Given the description of an element on the screen output the (x, y) to click on. 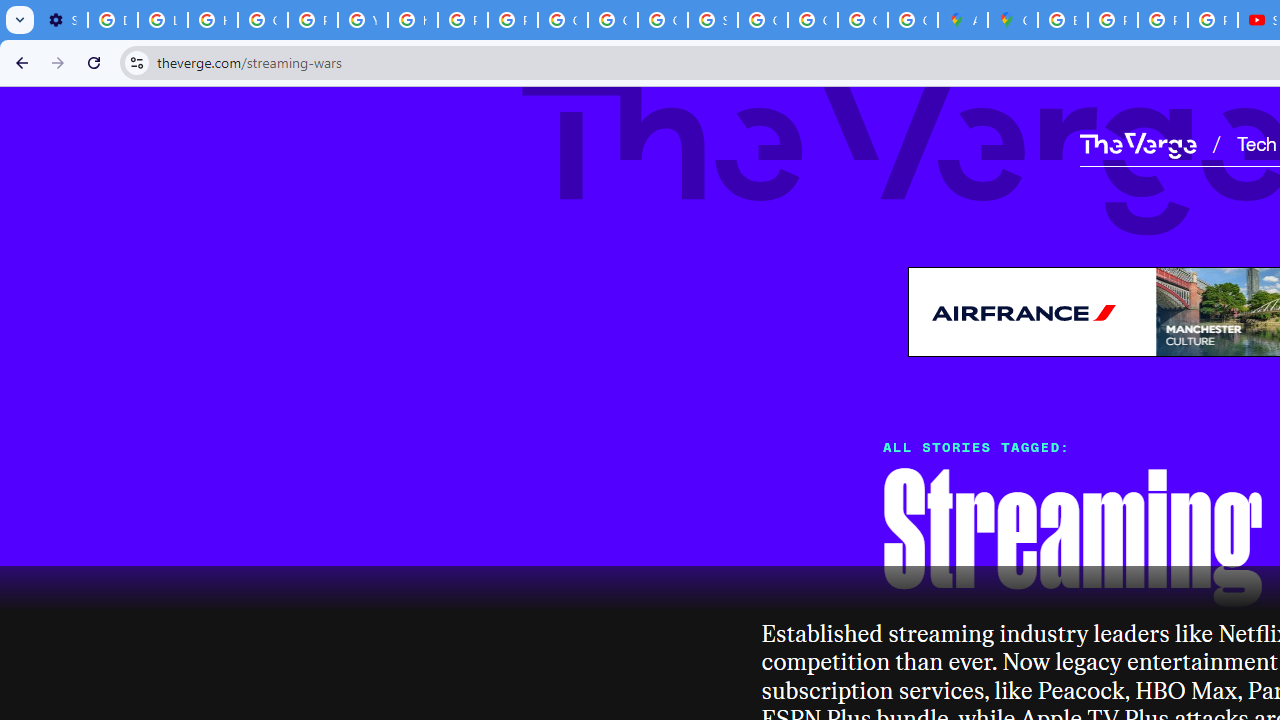
Google Maps (1013, 20)
Settings - Customize profile (62, 20)
Delete photos & videos - Computer - Google Photos Help (113, 20)
Sign in - Google Accounts (712, 20)
Learn how to find your photos - Google Photos Help (163, 20)
Privacy Help Center - Policies Help (1112, 20)
